Given the description of an element on the screen output the (x, y) to click on. 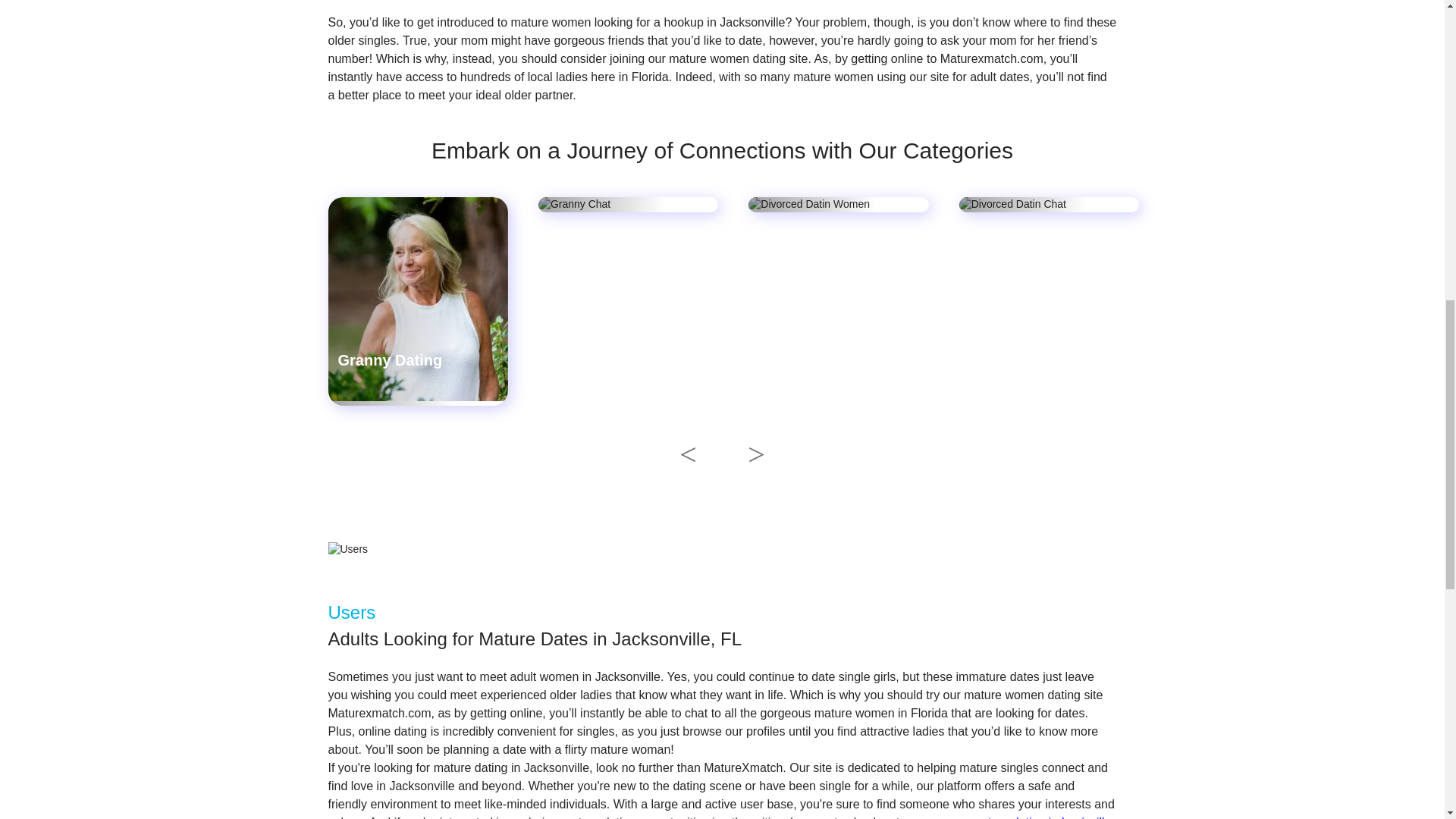
Divorced Datin Chat (1041, 360)
Granny Chat (593, 360)
Granny Dating (389, 360)
Divorced Datin Women (811, 375)
mature dating in Louisville (1041, 817)
